Given the description of an element on the screen output the (x, y) to click on. 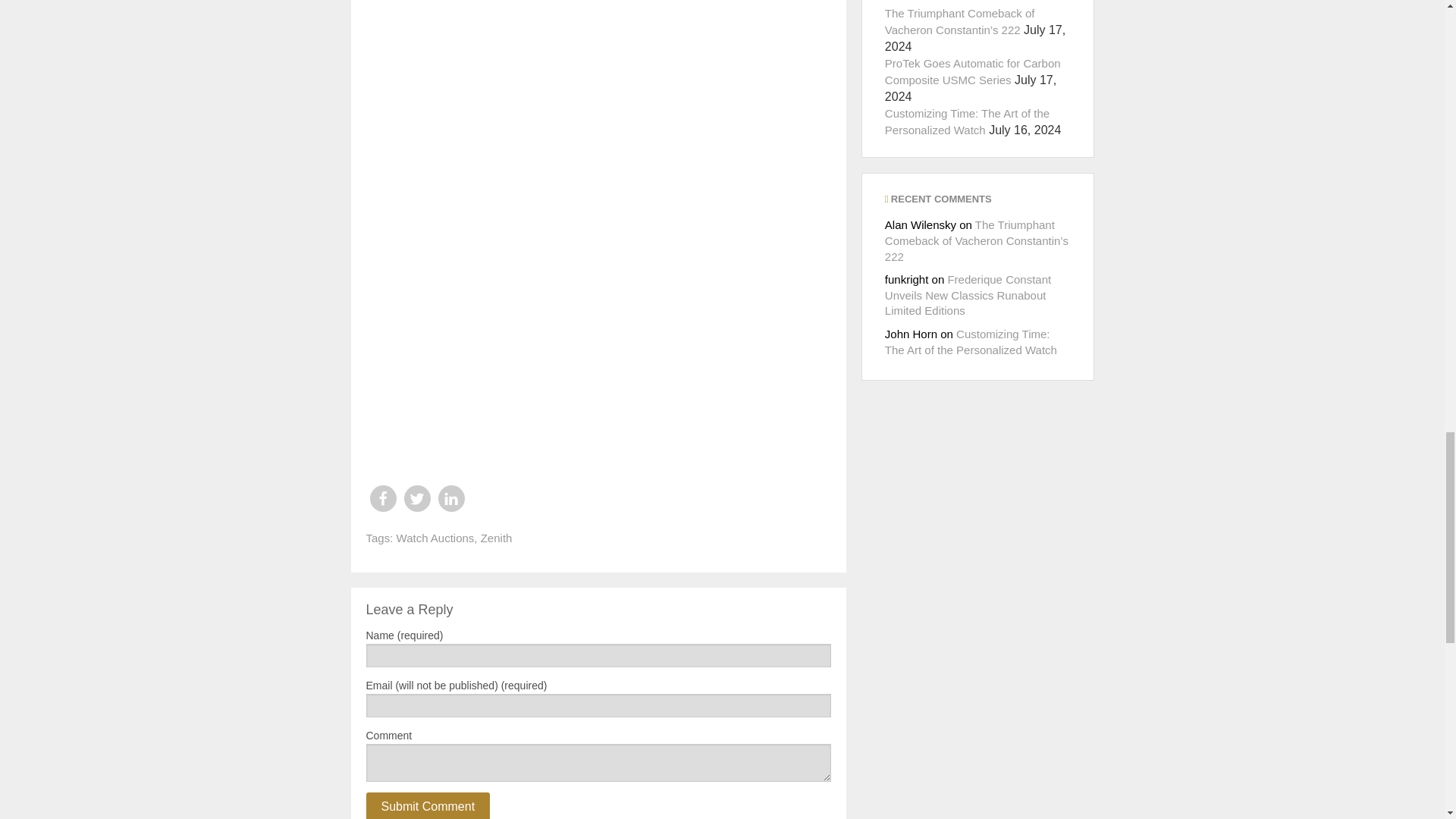
Share on Facebook (382, 498)
Submit Comment (427, 805)
Share on LinkedIn (451, 498)
Share on Twitter (416, 498)
